Given the description of an element on the screen output the (x, y) to click on. 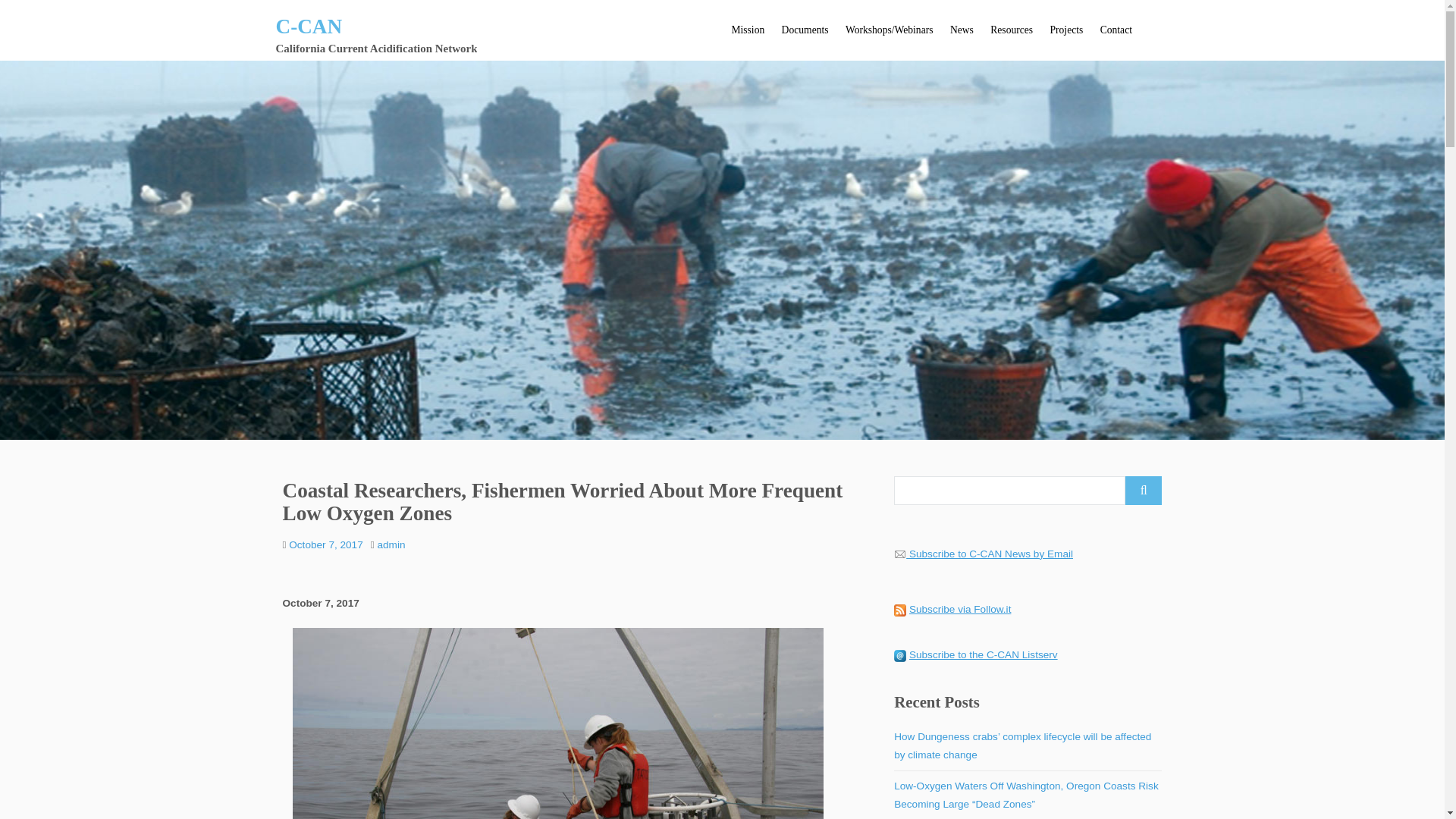
Resources (1011, 30)
October 7, 2017 (325, 544)
C-CAN (309, 26)
Subscribe via Follow.it (959, 609)
C-CAN (309, 26)
Subscribe to C-CAN News by Email (990, 553)
admin (391, 544)
Documents (804, 30)
Search (1143, 490)
Subscribe to the C-CAN Listserv (983, 654)
